Given the description of an element on the screen output the (x, y) to click on. 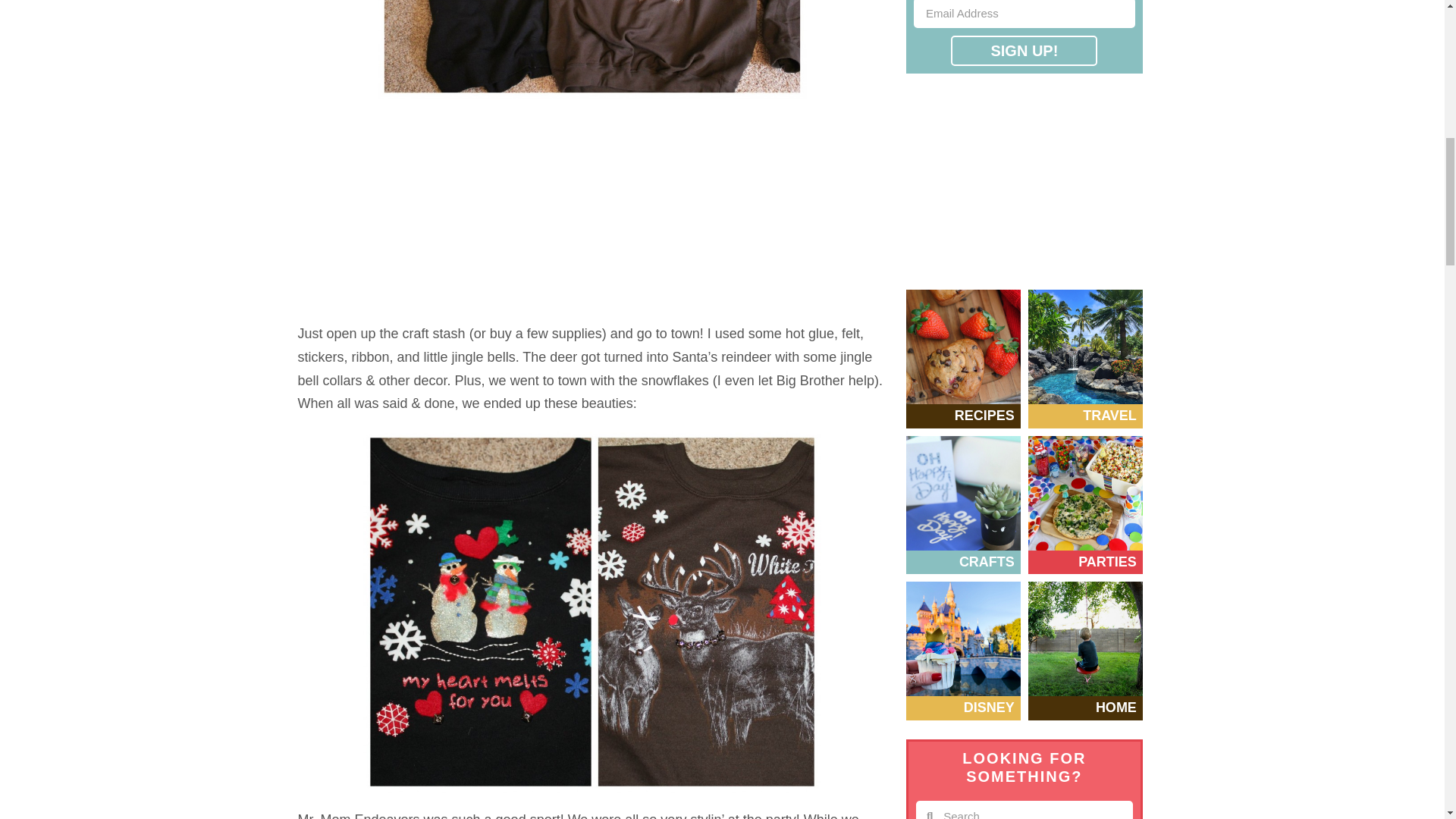
Christmas Sweatshirts (591, 57)
